Given the description of an element on the screen output the (x, y) to click on. 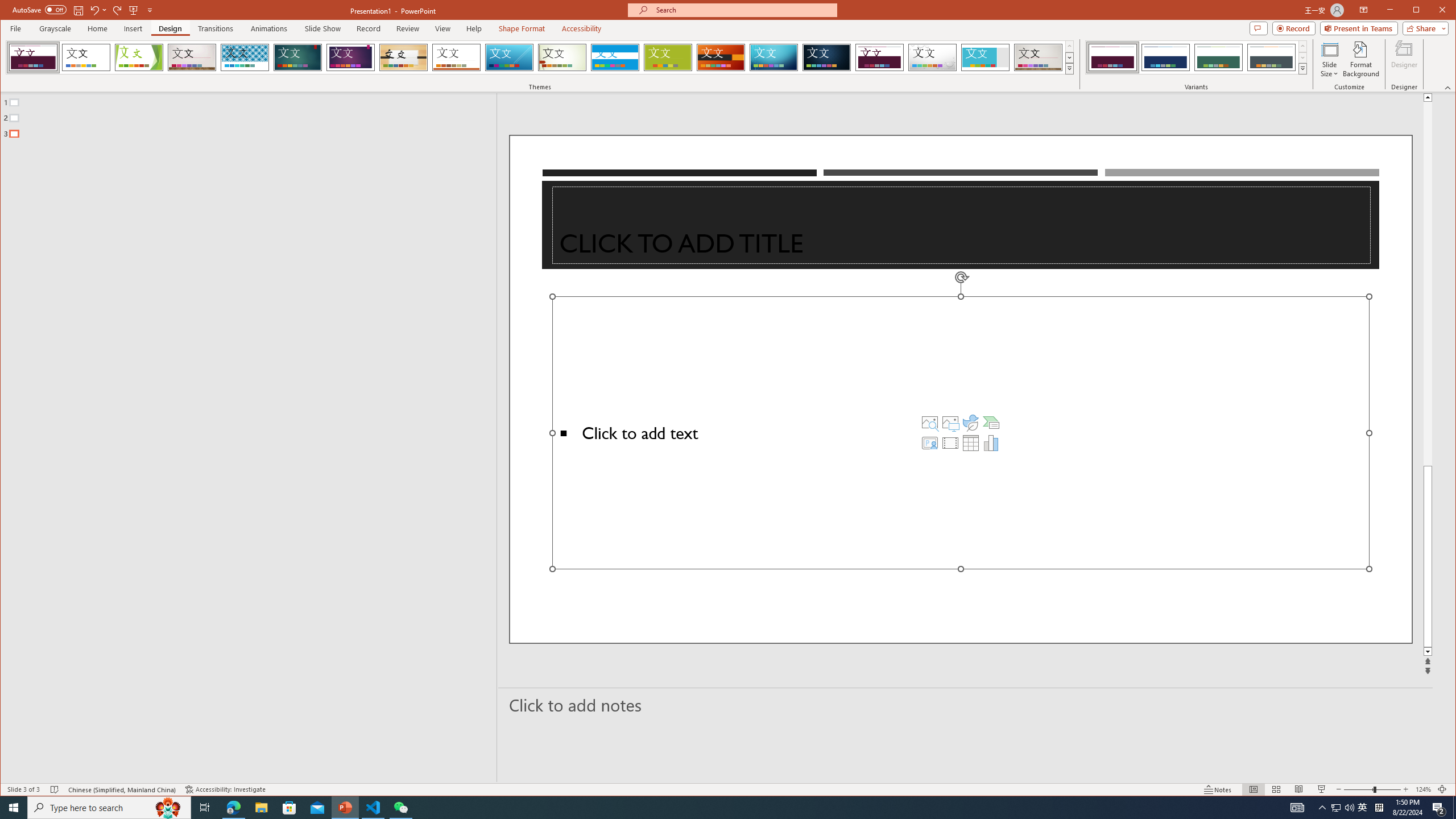
Dividend Variant 2 (1165, 57)
Dividend Variant 3 (1218, 57)
Slice (509, 57)
Banded (615, 57)
